Given the description of an element on the screen output the (x, y) to click on. 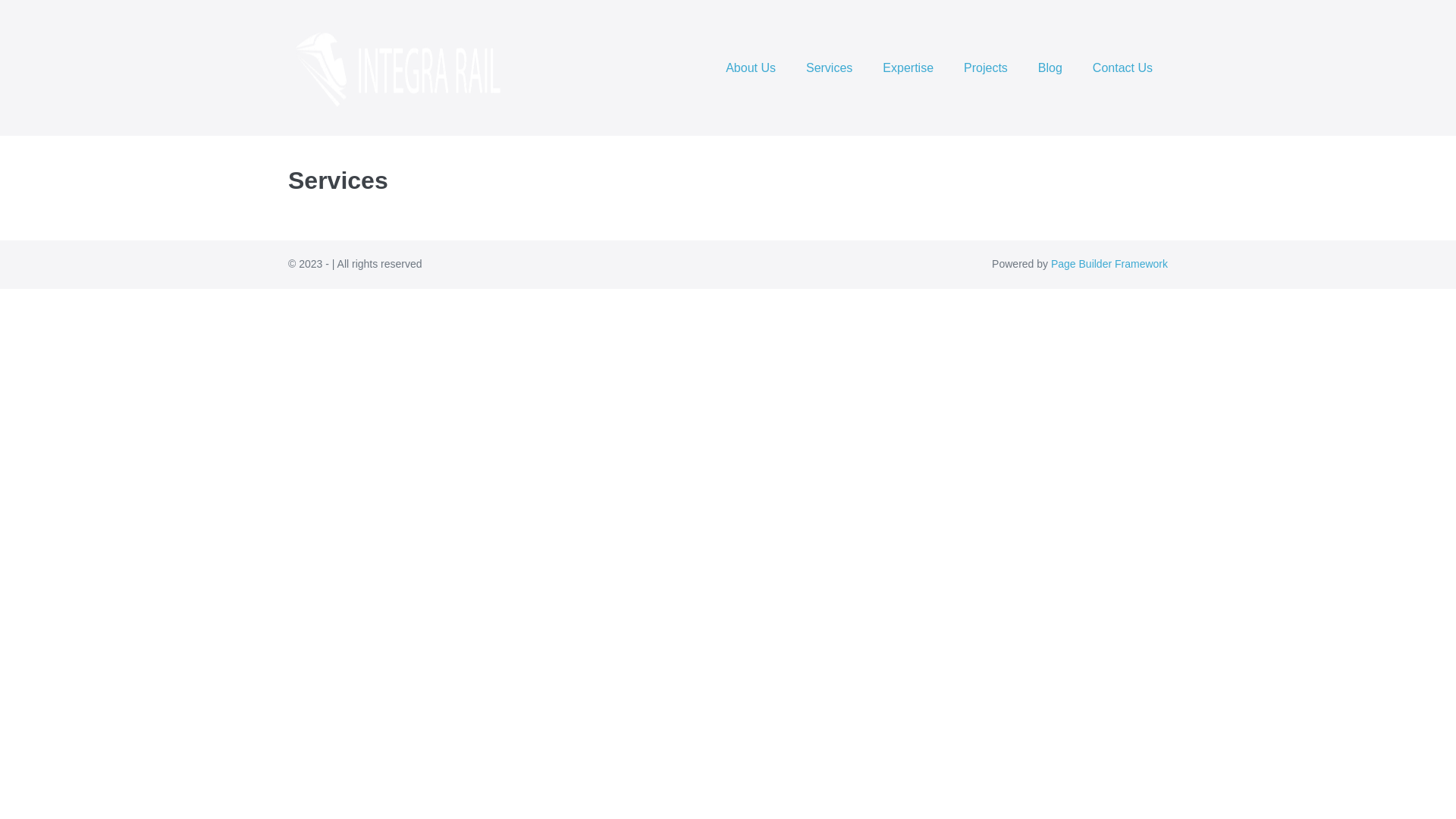
About Us Element type: text (750, 67)
Blog Element type: text (1049, 67)
Projects Element type: text (985, 67)
Page Builder Framework Element type: text (1109, 263)
Services Element type: text (828, 67)
Expertise Element type: text (907, 67)
Contact Us Element type: text (1122, 67)
